Given the description of an element on the screen output the (x, y) to click on. 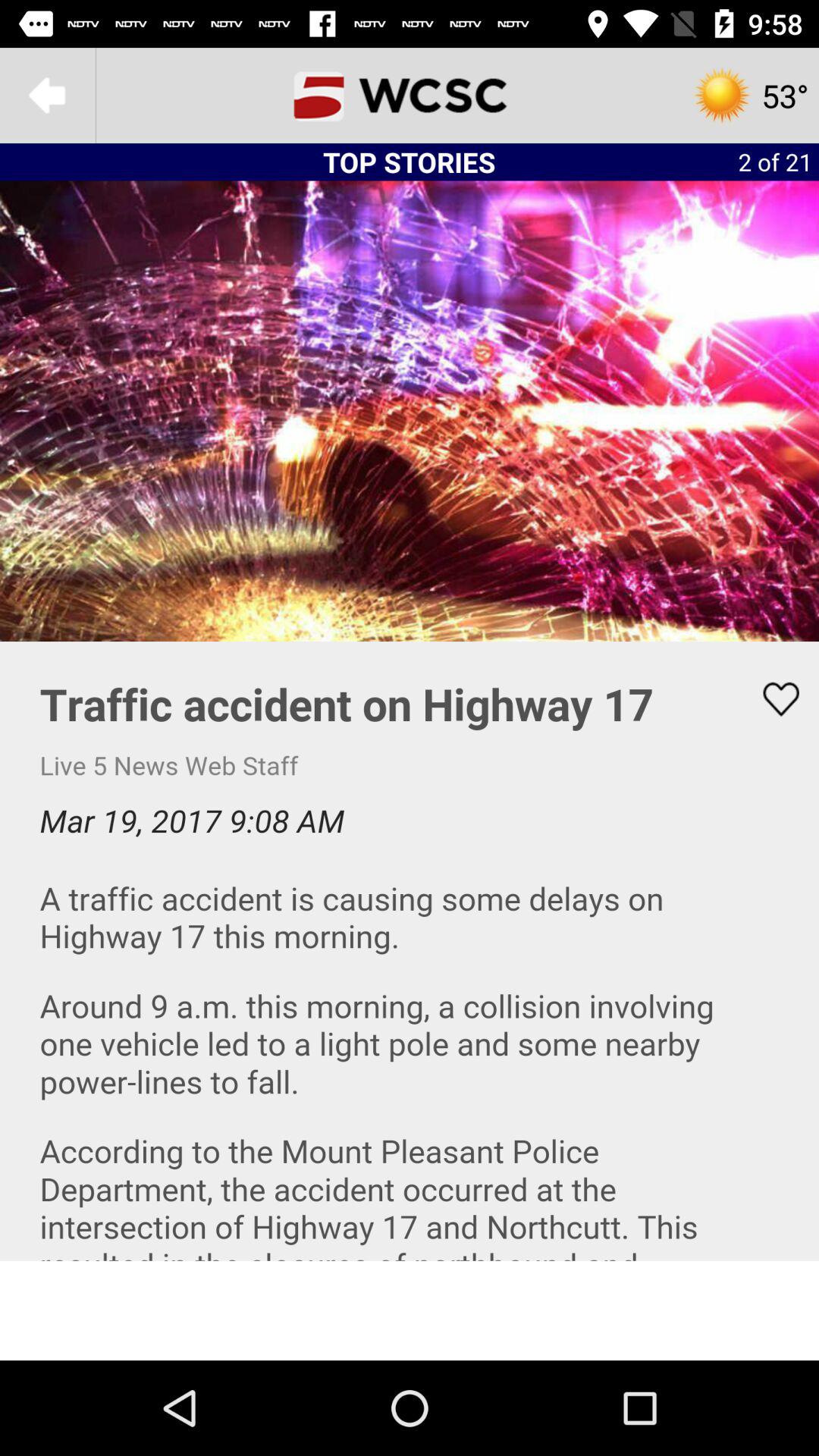
go to homepage (409, 95)
